Given the description of an element on the screen output the (x, y) to click on. 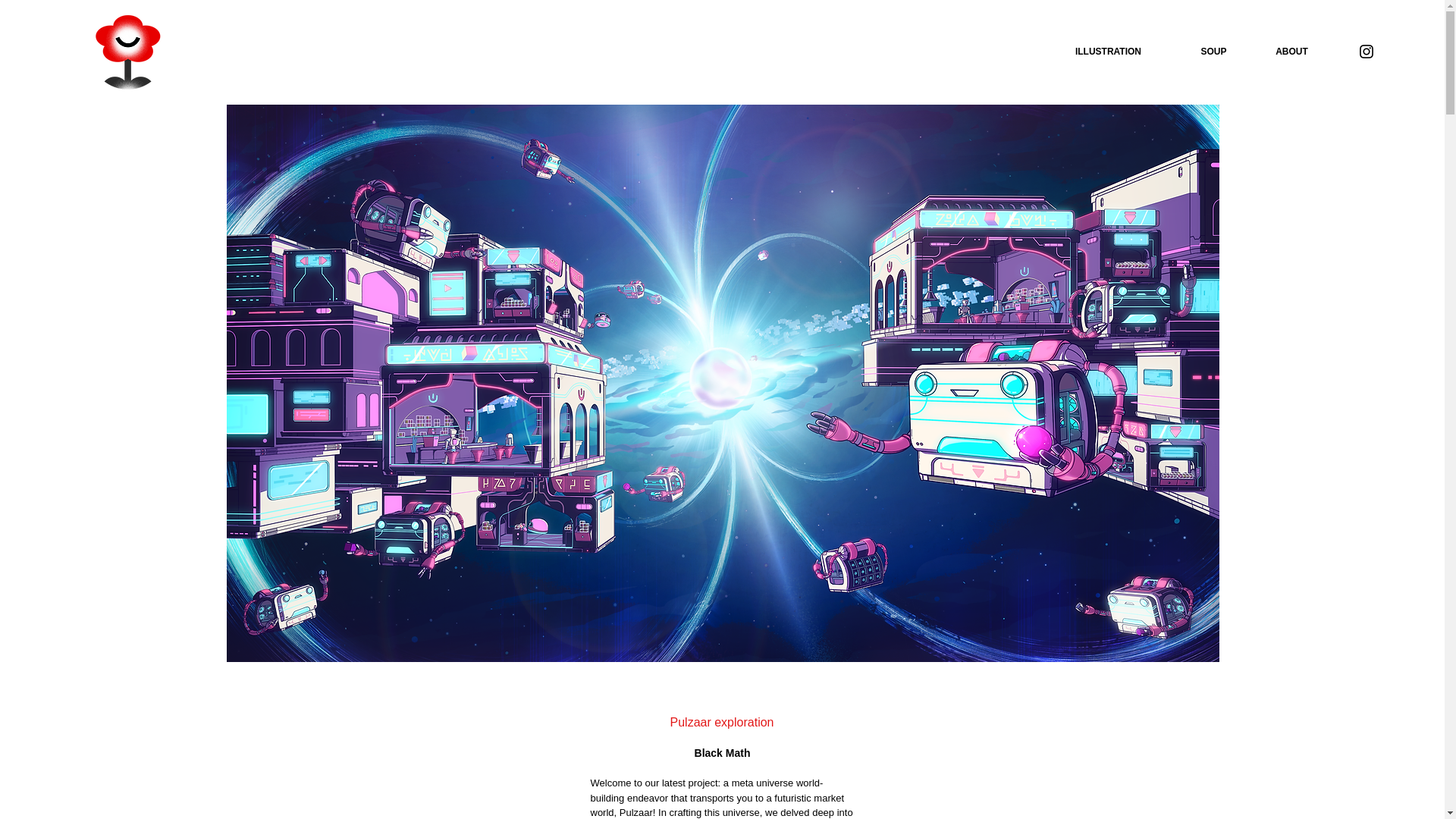
ABOUT (1291, 51)
ILLUSTRATION (1107, 51)
SOUP (1213, 51)
